Given the description of an element on the screen output the (x, y) to click on. 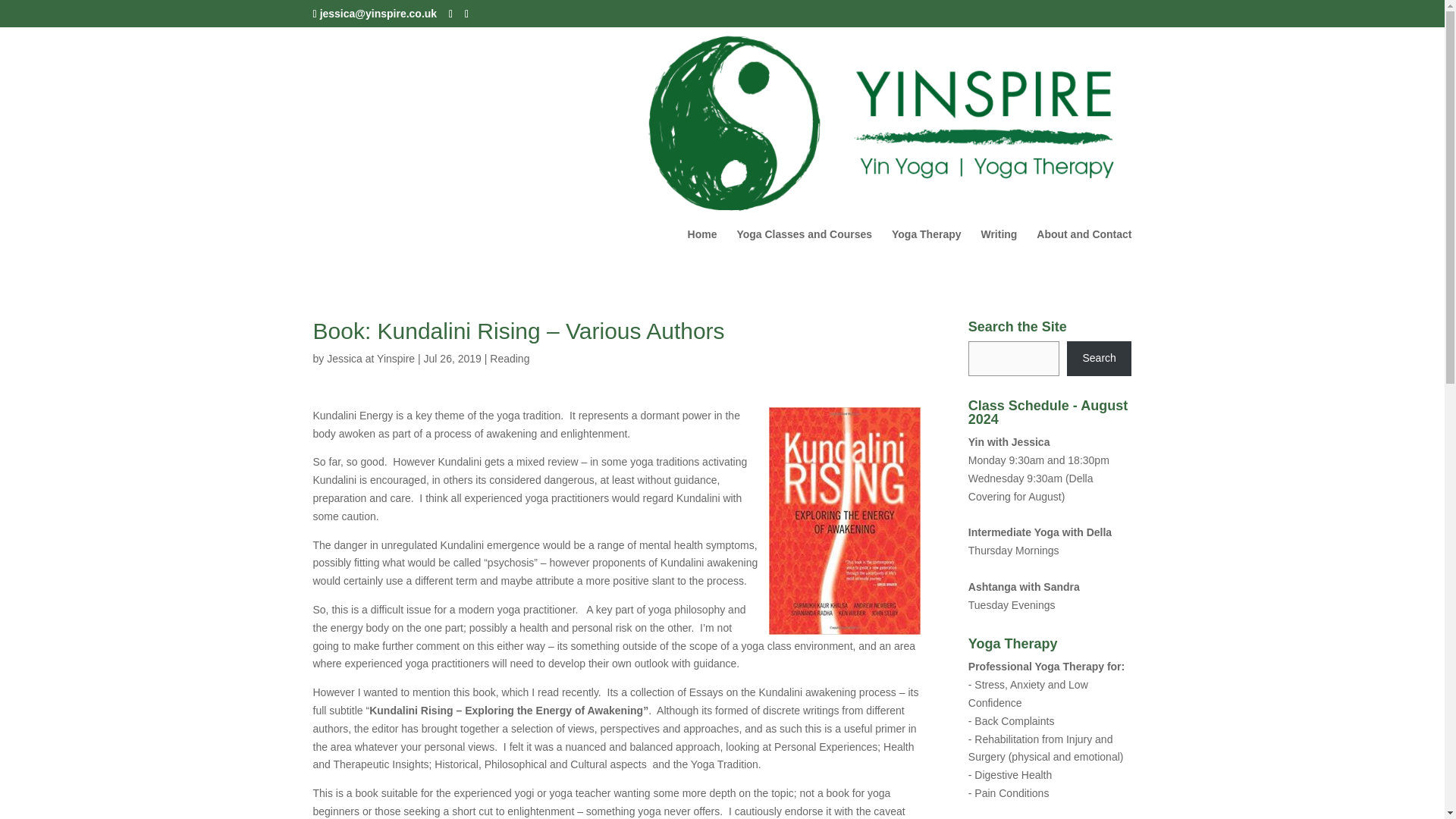
- Pain Conditions (1008, 793)
- Back Complaints (1011, 720)
Yoga Classes and Courses (804, 252)
Reading (509, 358)
- Stress, Anxiety and Low Confidence (1027, 693)
Jessica at Yinspire (370, 358)
Posts by Jessica at Yinspire (370, 358)
About and Contact (1083, 252)
Search (1099, 358)
- Digestive Health (1010, 775)
Yoga Therapy (925, 252)
